Given the description of an element on the screen output the (x, y) to click on. 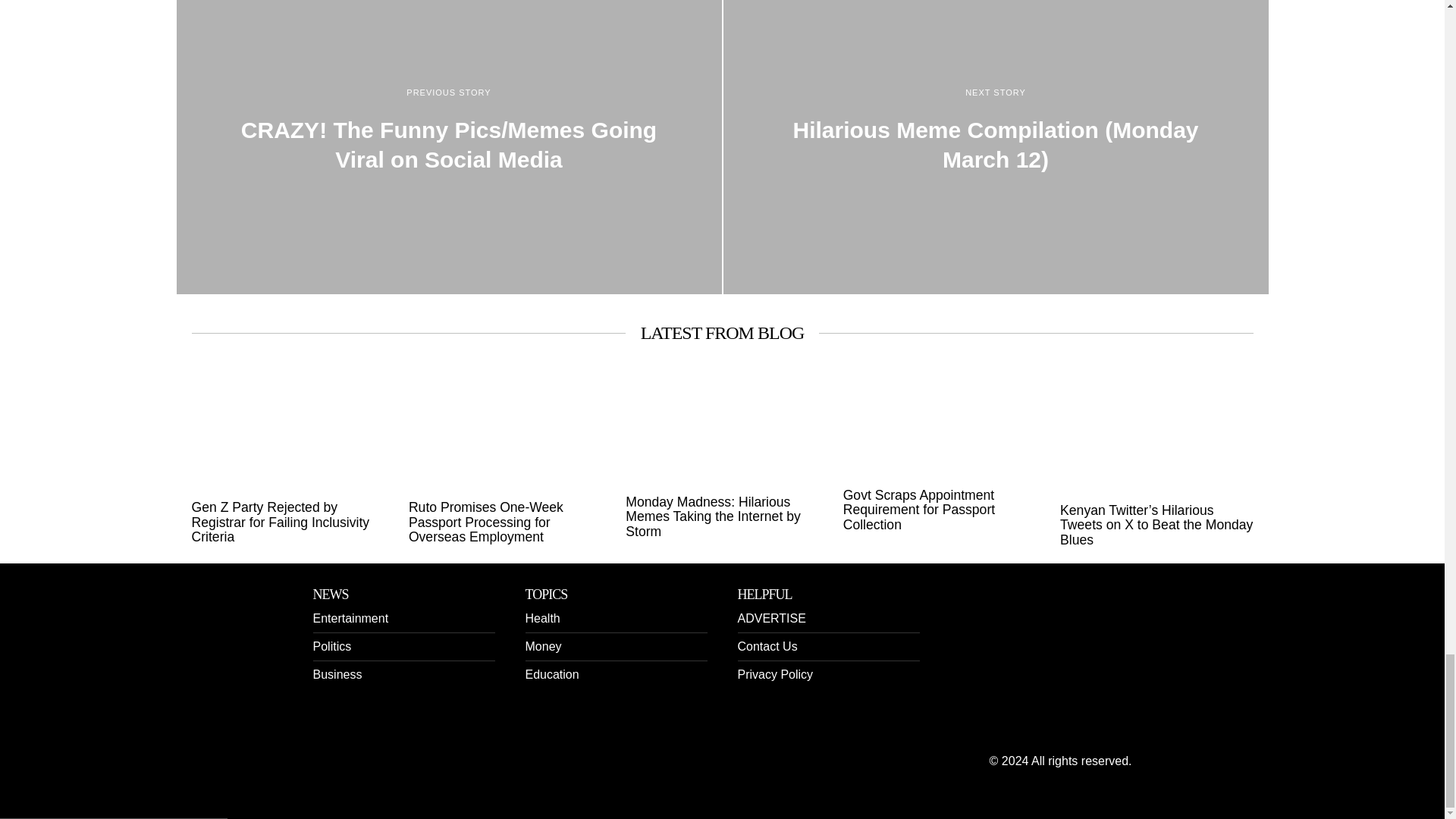
Politics (331, 645)
Govt Scraps Appointment Requirement for Passport Collection (939, 510)
Monday Madness: Hilarious Memes Taking the Internet by Storm (722, 516)
Business (337, 674)
Entertainment (350, 617)
Health (541, 617)
Money (542, 645)
